Given the description of an element on the screen output the (x, y) to click on. 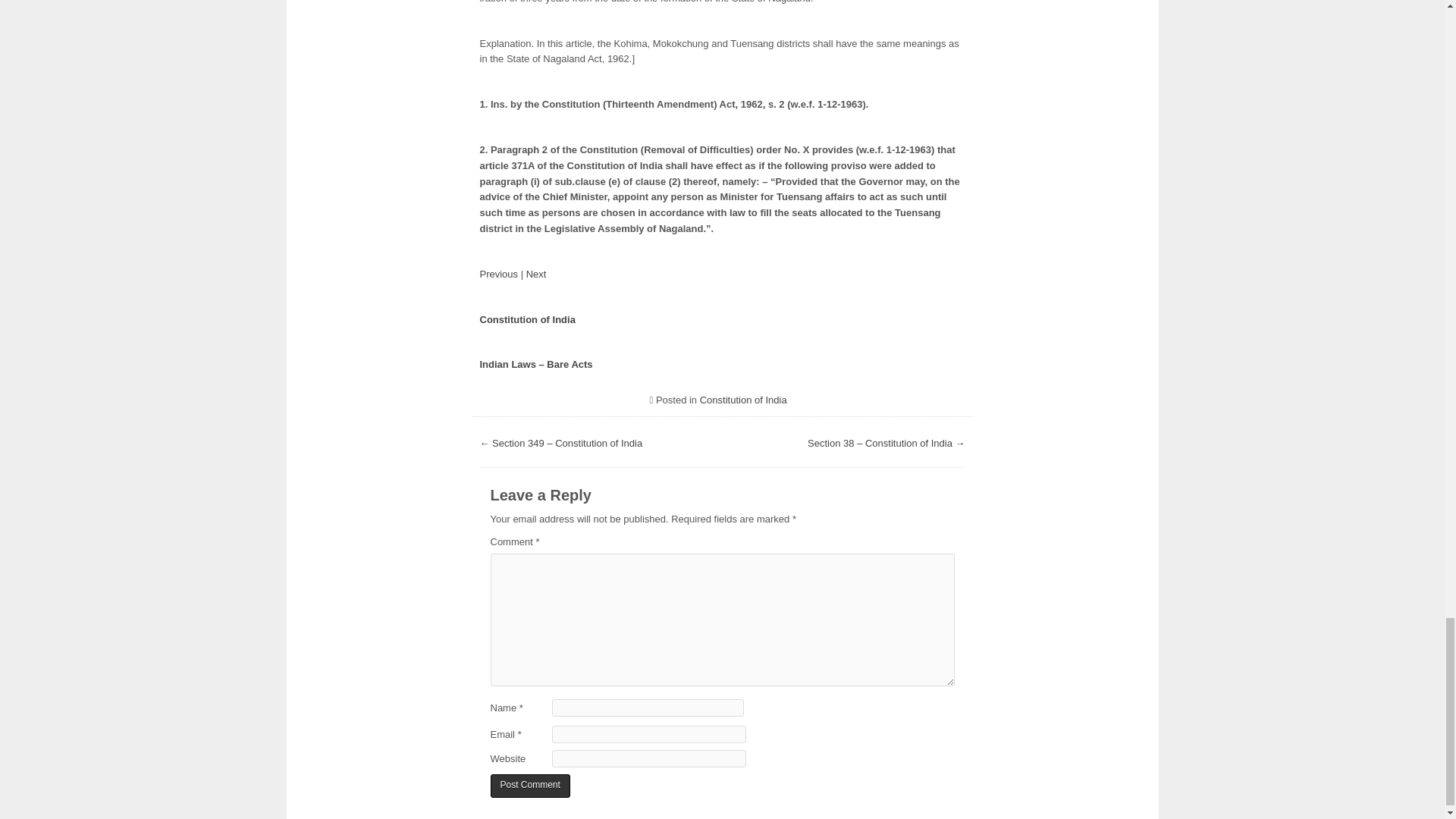
Next (536, 274)
Constitution of India (527, 319)
Post Comment (529, 785)
Post Comment (529, 785)
Constitution of India (743, 399)
Previous (498, 274)
